Given the description of an element on the screen output the (x, y) to click on. 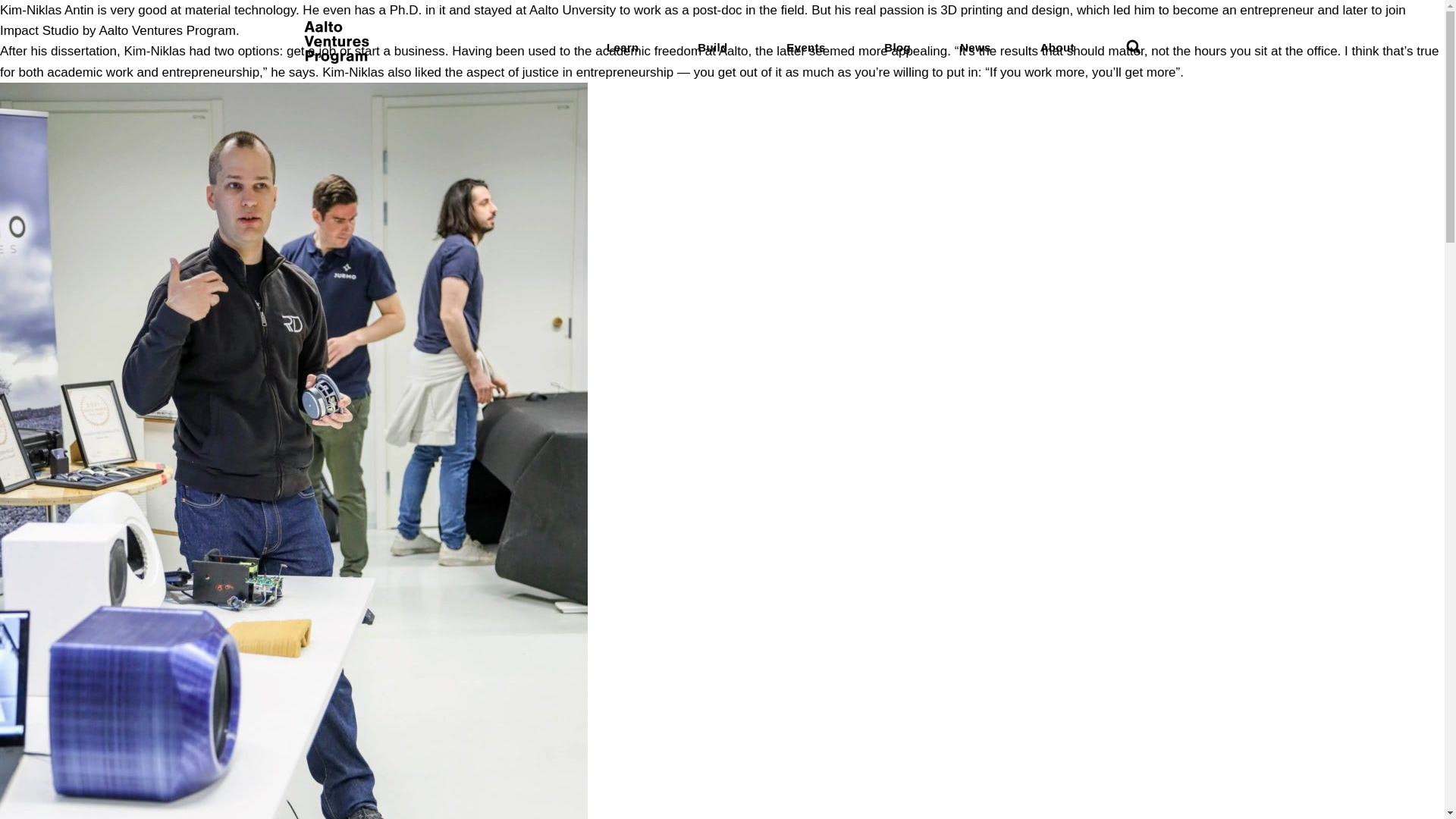
AVP Logo (335, 59)
Build (711, 47)
Learn (623, 47)
